Given the description of an element on the screen output the (x, y) to click on. 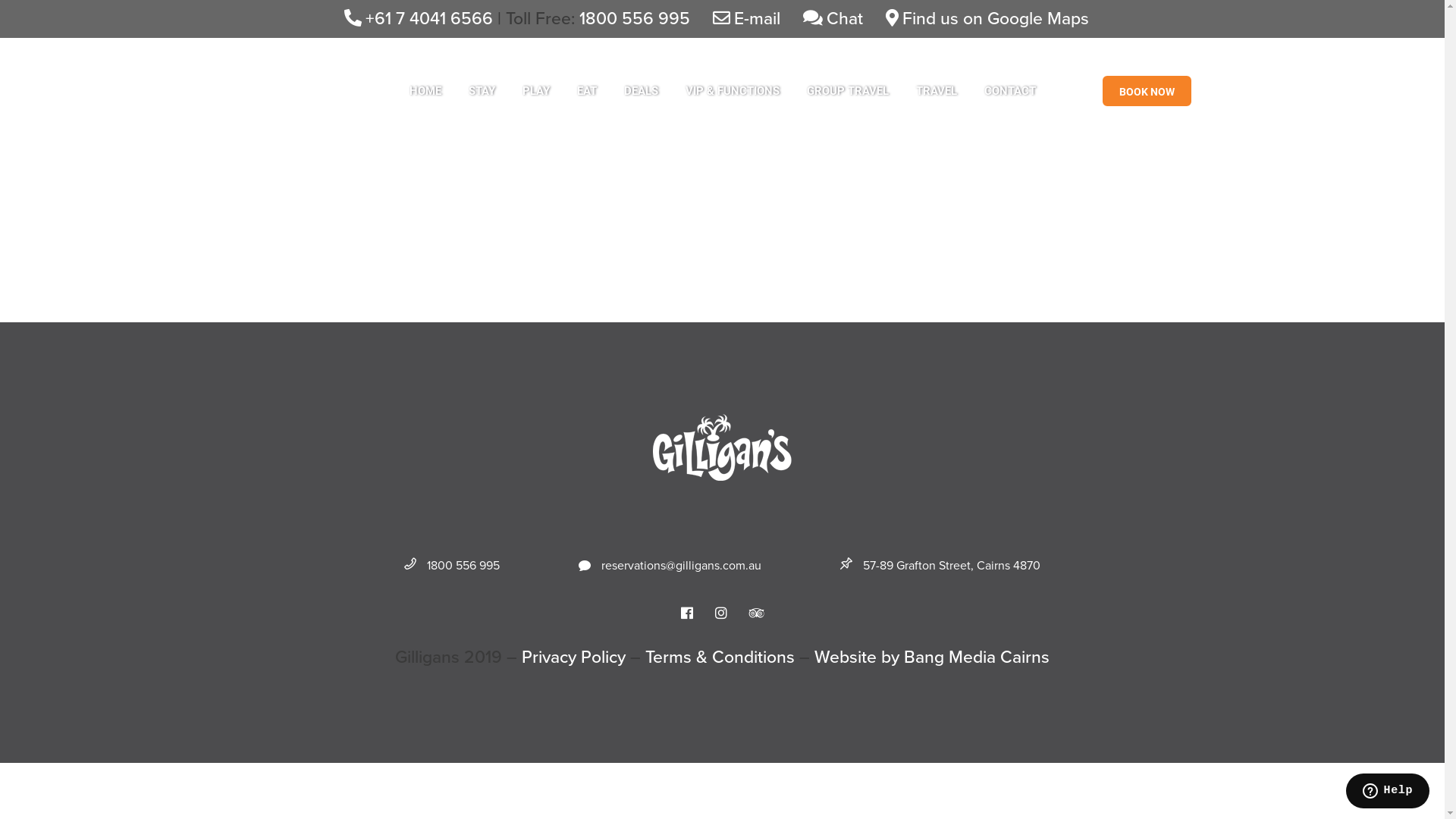
PLAY Element type: text (535, 90)
Website by Bang Media Cairns Element type: text (931, 657)
BOOK NOW Element type: text (1146, 90)
reservations@gilligans.com.au Element type: text (669, 565)
+61 7 4041 6566 Element type: text (418, 18)
EAT Element type: text (585, 90)
STAY Element type: text (481, 90)
HOME Element type: text (425, 90)
E-mail Element type: text (746, 18)
TRAVEL Element type: text (936, 90)
Find us on Google Maps Element type: text (986, 18)
1800 556 995 Element type: text (634, 18)
GROUP TRAVEL Element type: text (847, 90)
CONTACT Element type: text (1009, 90)
Chat Element type: text (832, 18)
Privacy Policy Element type: text (573, 657)
Send Element type: text (587, 648)
Opens a widget where you can chat to one of our agents Element type: hover (1387, 792)
VIP & FUNCTIONS Element type: text (732, 90)
DEALS Element type: text (640, 90)
1800 556 995 Element type: text (451, 565)
57-89 Grafton Street, Cairns 4870 Element type: text (940, 565)
Terms & Conditions Element type: text (719, 657)
